Given the description of an element on the screen output the (x, y) to click on. 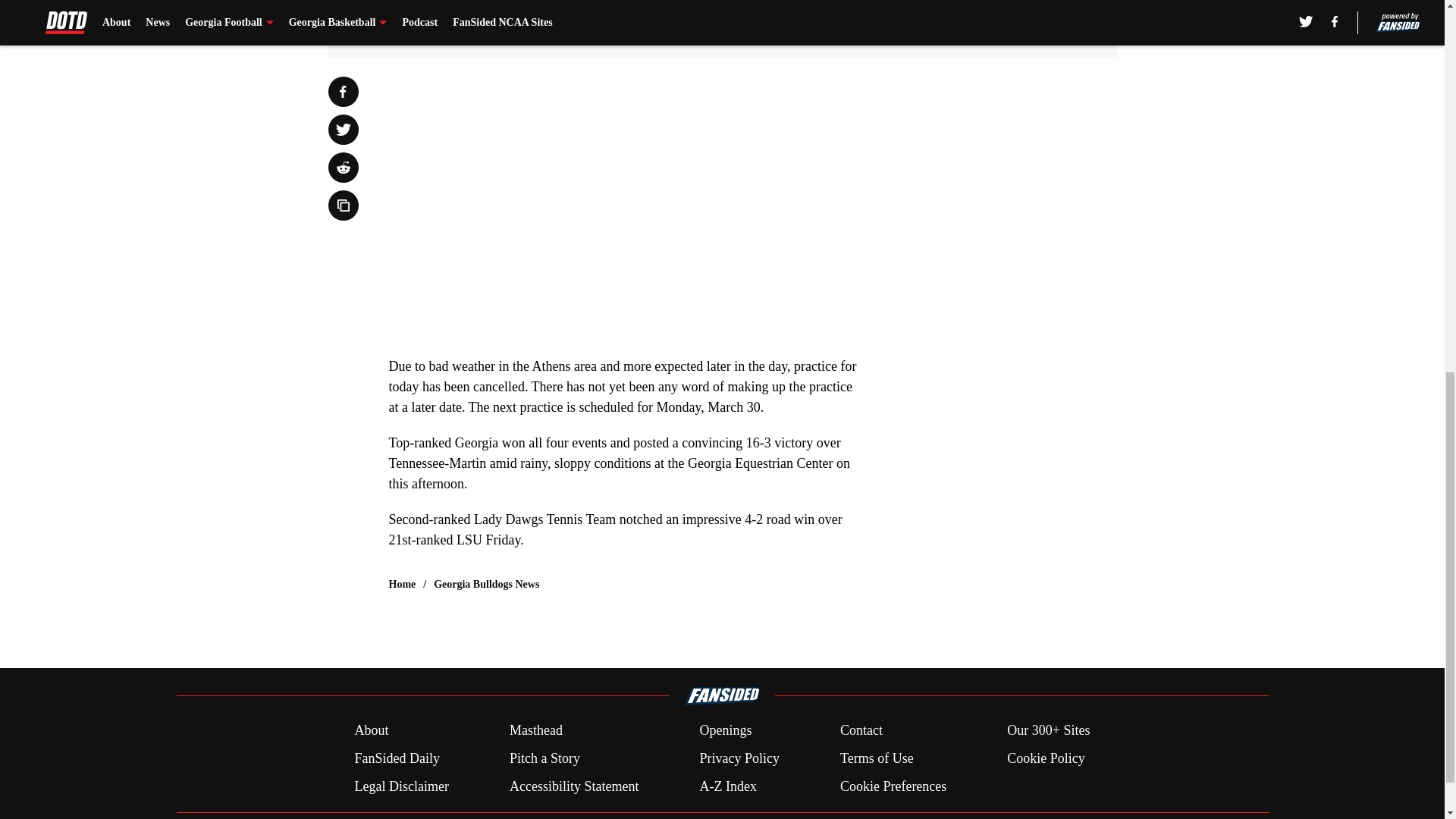
About (370, 730)
Georgia Bulldogs News (485, 584)
FanSided Daily (396, 758)
Legal Disclaimer (400, 786)
Privacy Policy (738, 758)
Contact (861, 730)
Openings (724, 730)
Cookie Preferences (893, 786)
Masthead (535, 730)
A-Z Index (726, 786)
Pitch a Story (544, 758)
Terms of Use (877, 758)
Home (401, 584)
Cookie Policy (1045, 758)
Accessibility Statement (574, 786)
